Given the description of an element on the screen output the (x, y) to click on. 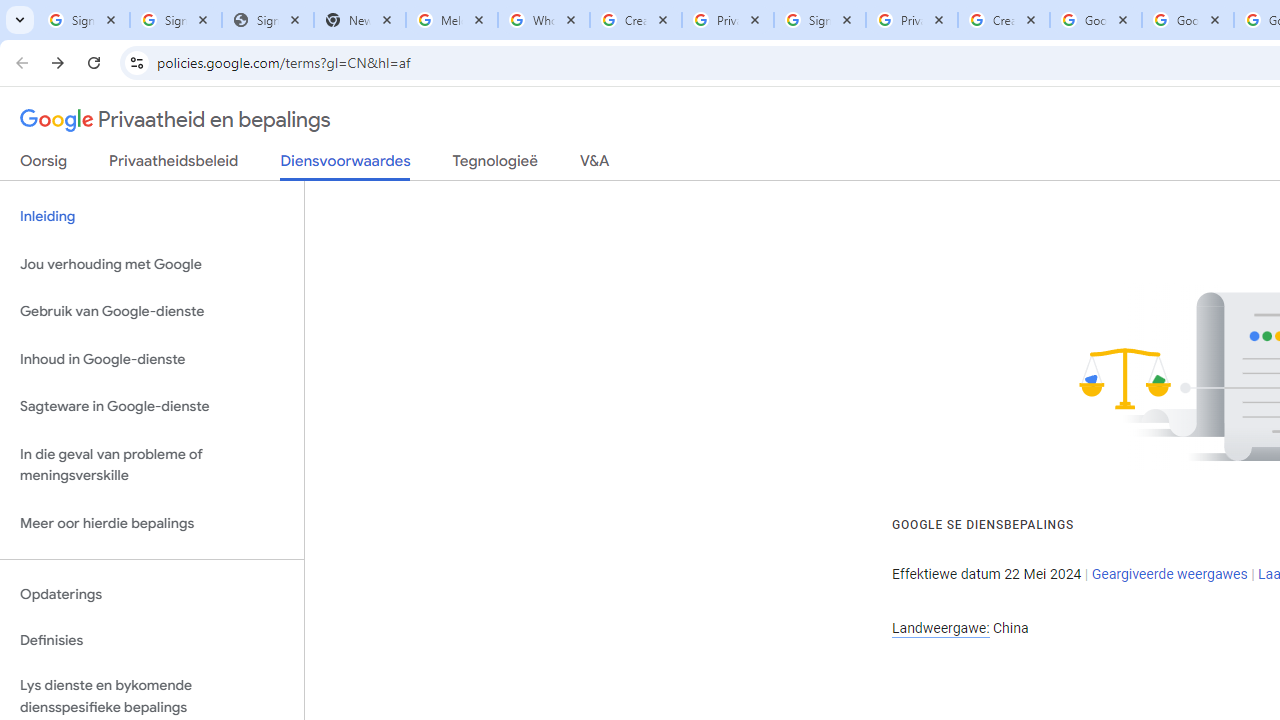
Meer oor hierdie bepalings (152, 522)
Privaatheid en bepalings (175, 120)
Definisies (152, 640)
Opdaterings (152, 594)
Inhoud in Google-dienste (152, 358)
Create your Google Account (1003, 20)
Who is my administrator? - Google Account Help (543, 20)
In die geval van probleme of meningsverskille (152, 464)
